Given the description of an element on the screen output the (x, y) to click on. 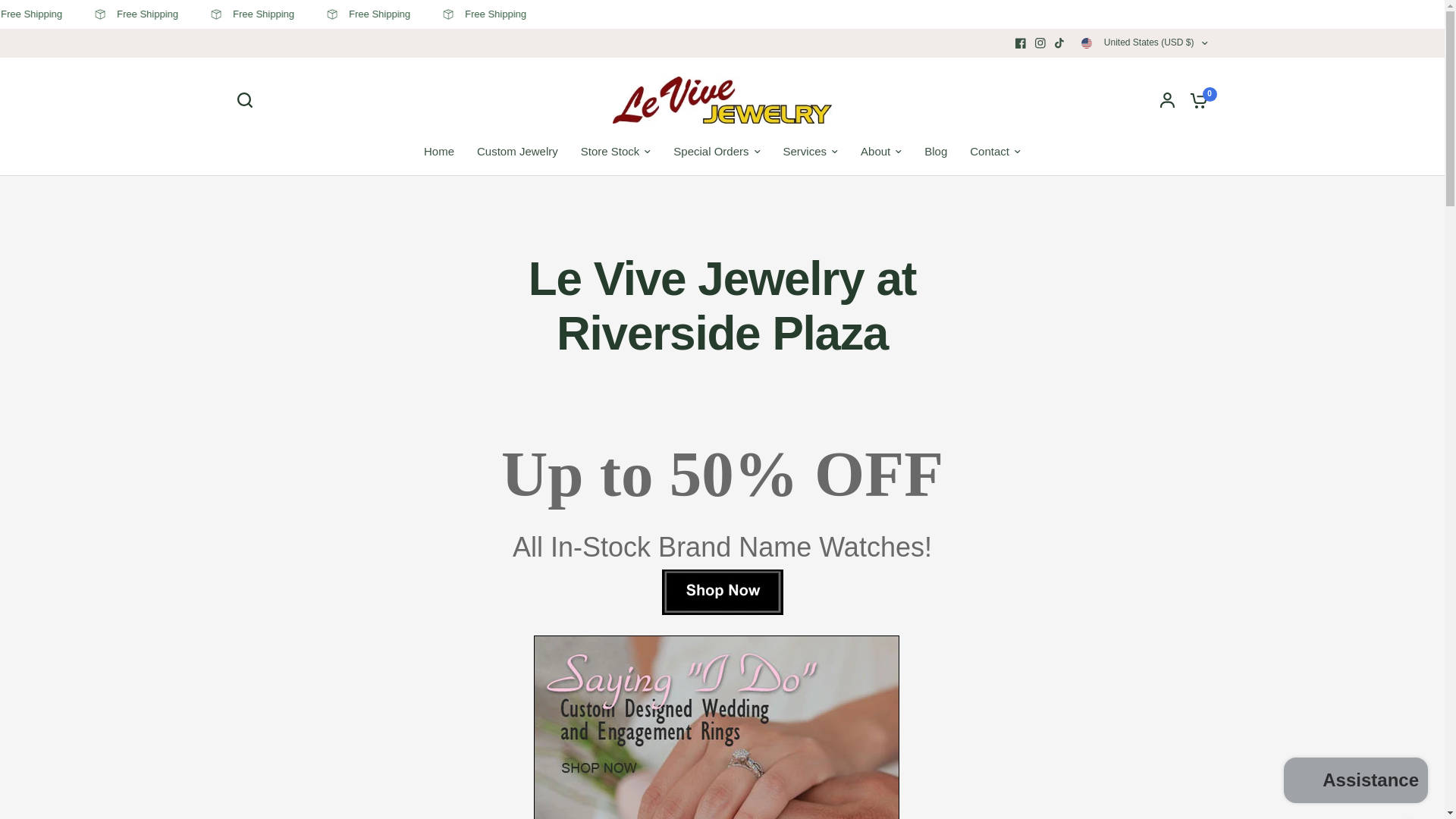
TikTok (1059, 43)
Instagram (1039, 43)
Facebook (1020, 43)
